Given the description of an element on the screen output the (x, y) to click on. 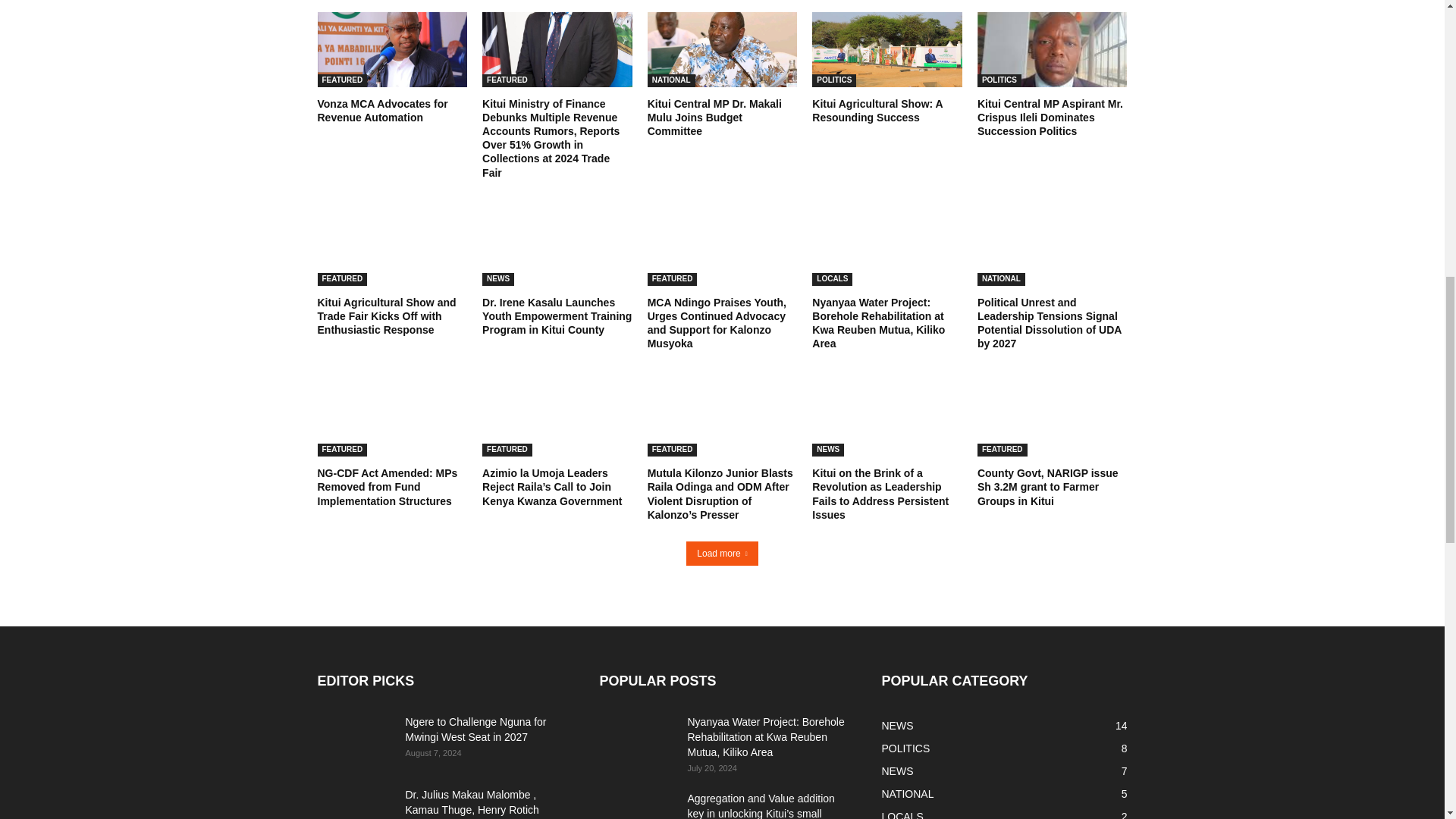
Vonza MCA Advocates for Revenue Automation (381, 110)
Vonza MCA Advocates for Revenue Automation (392, 49)
Kitui Central MP Dr. Makali Mulu Joins Budget Committee (722, 49)
